Given the description of an element on the screen output the (x, y) to click on. 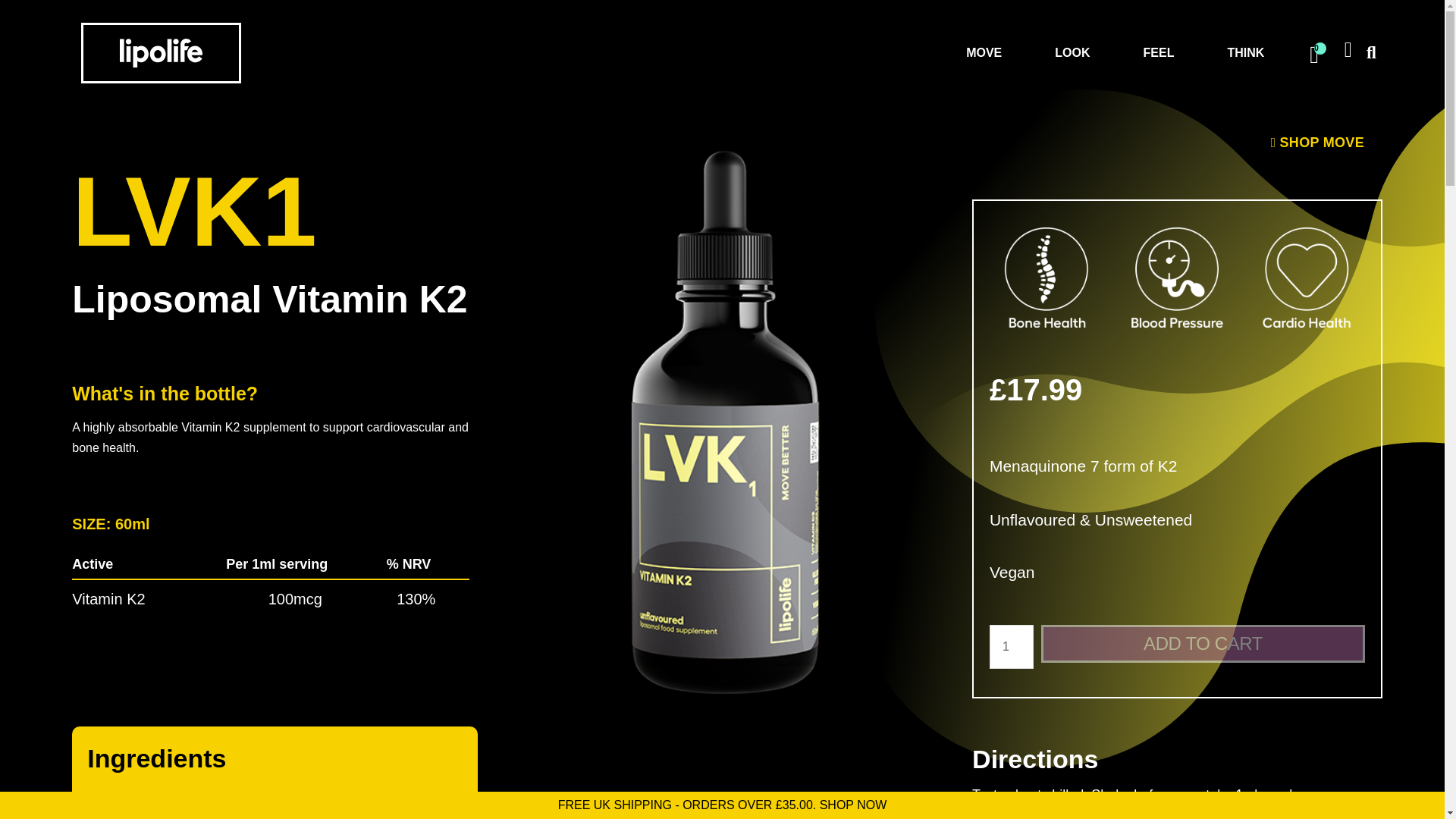
1 (1011, 646)
THINK (1249, 52)
MOVE (987, 52)
LOOK (1075, 52)
FEEL (1162, 52)
